Given the description of an element on the screen output the (x, y) to click on. 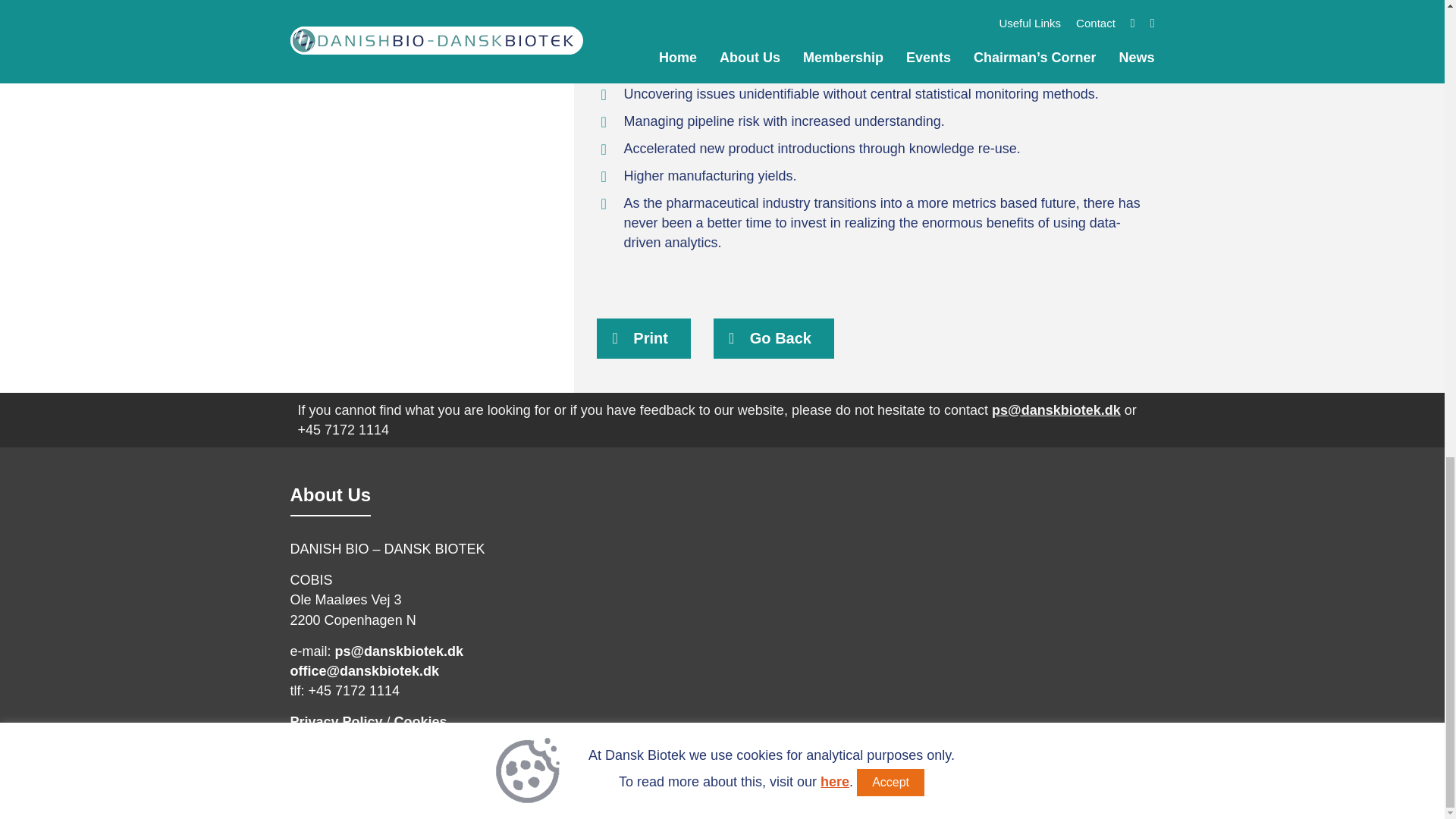
Cookies (420, 721)
Go Back (773, 338)
Print (643, 338)
Professional Wordpress Developer (1098, 784)
created by: Mastafu Design (1098, 784)
Privacy Policy (335, 721)
